Given the description of an element on the screen output the (x, y) to click on. 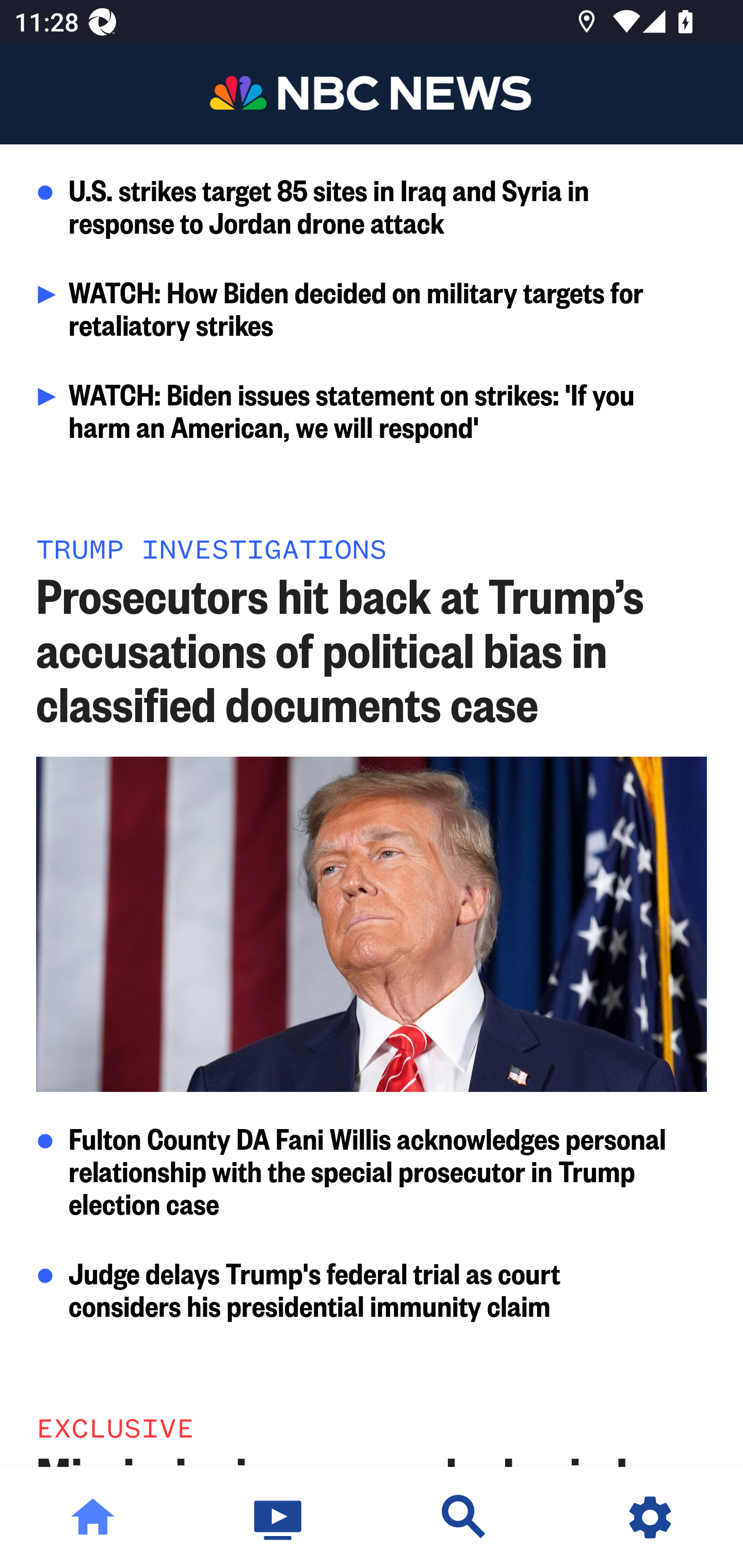
Watch (278, 1517)
Discover (464, 1517)
Settings (650, 1517)
